Given the description of an element on the screen output the (x, y) to click on. 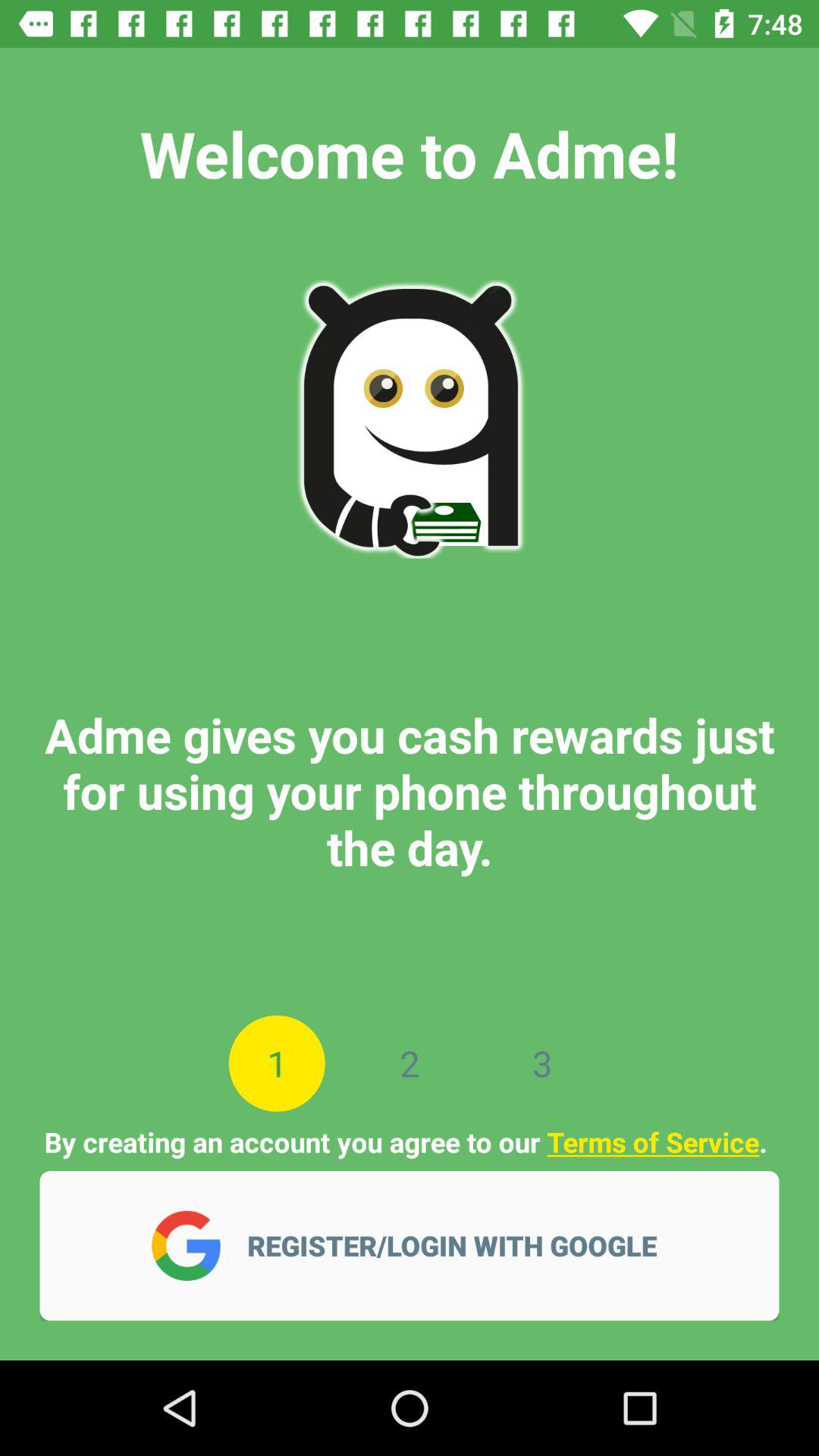
click the 1 app (276, 1063)
